Given the description of an element on the screen output the (x, y) to click on. 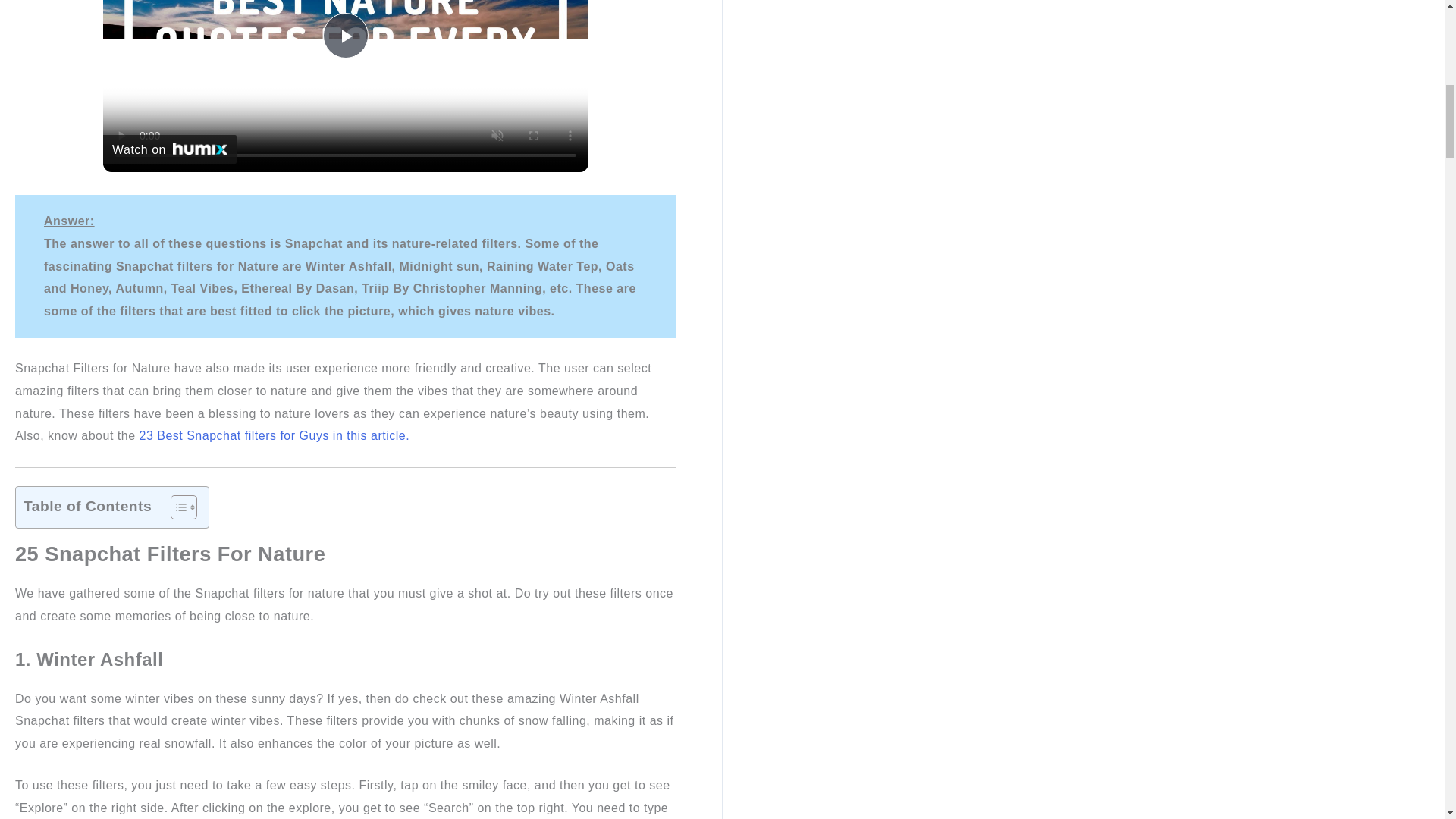
Play Video (345, 35)
